Given the description of an element on the screen output the (x, y) to click on. 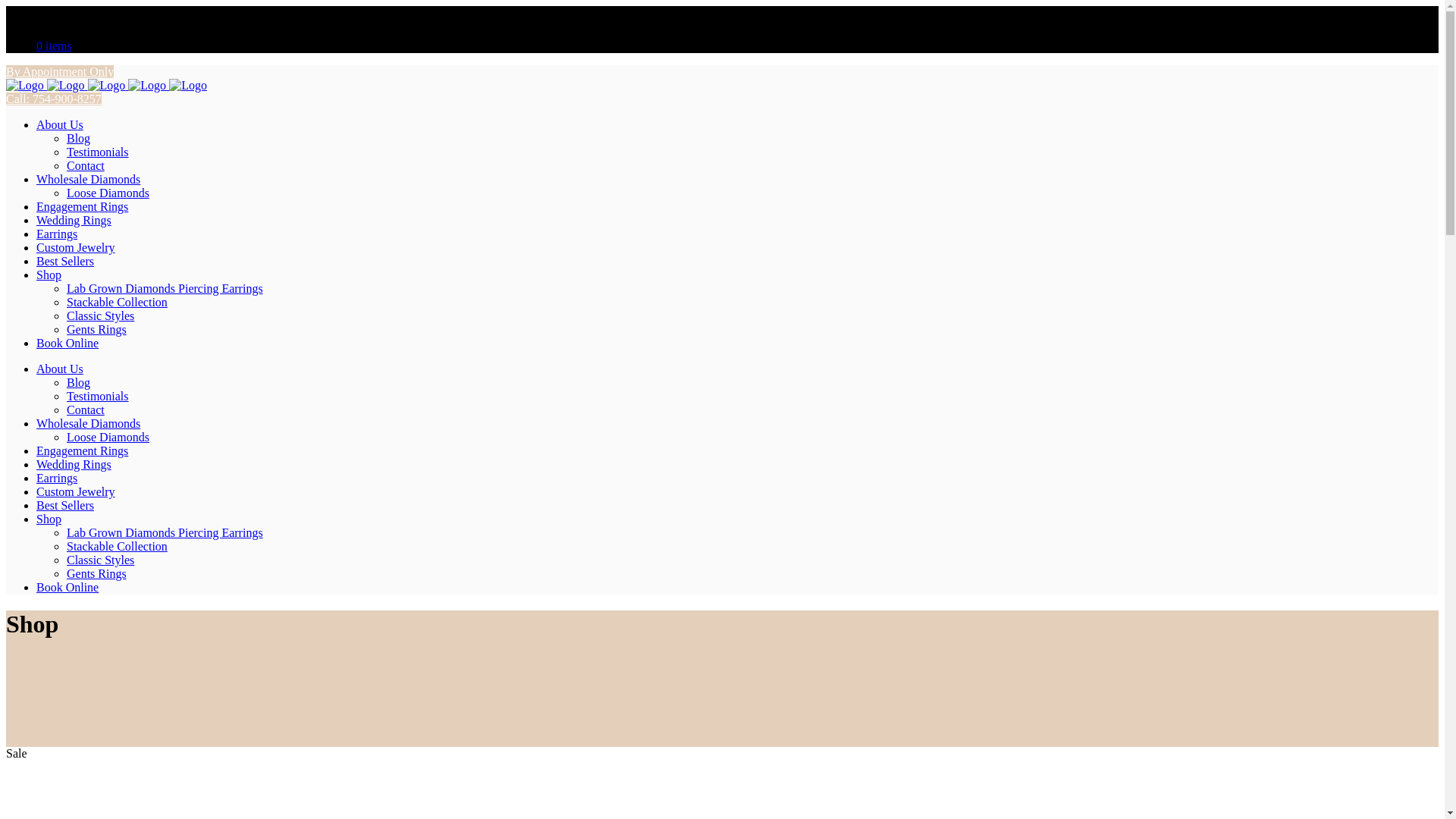
Wedding Rings (74, 463)
Engagement Rings (82, 205)
Book Online (67, 342)
Earrings (56, 233)
Contact (85, 409)
Book Online (67, 586)
Loose Diamonds (107, 436)
About Us (59, 368)
Testimonials (97, 151)
Shop (48, 518)
Call: 754-900-8257 (53, 98)
Best Sellers (65, 504)
Gents Rings (96, 573)
Stackable Collection (116, 545)
Lab Grown Diamonds Piercing Earrings (164, 287)
